Given the description of an element on the screen output the (x, y) to click on. 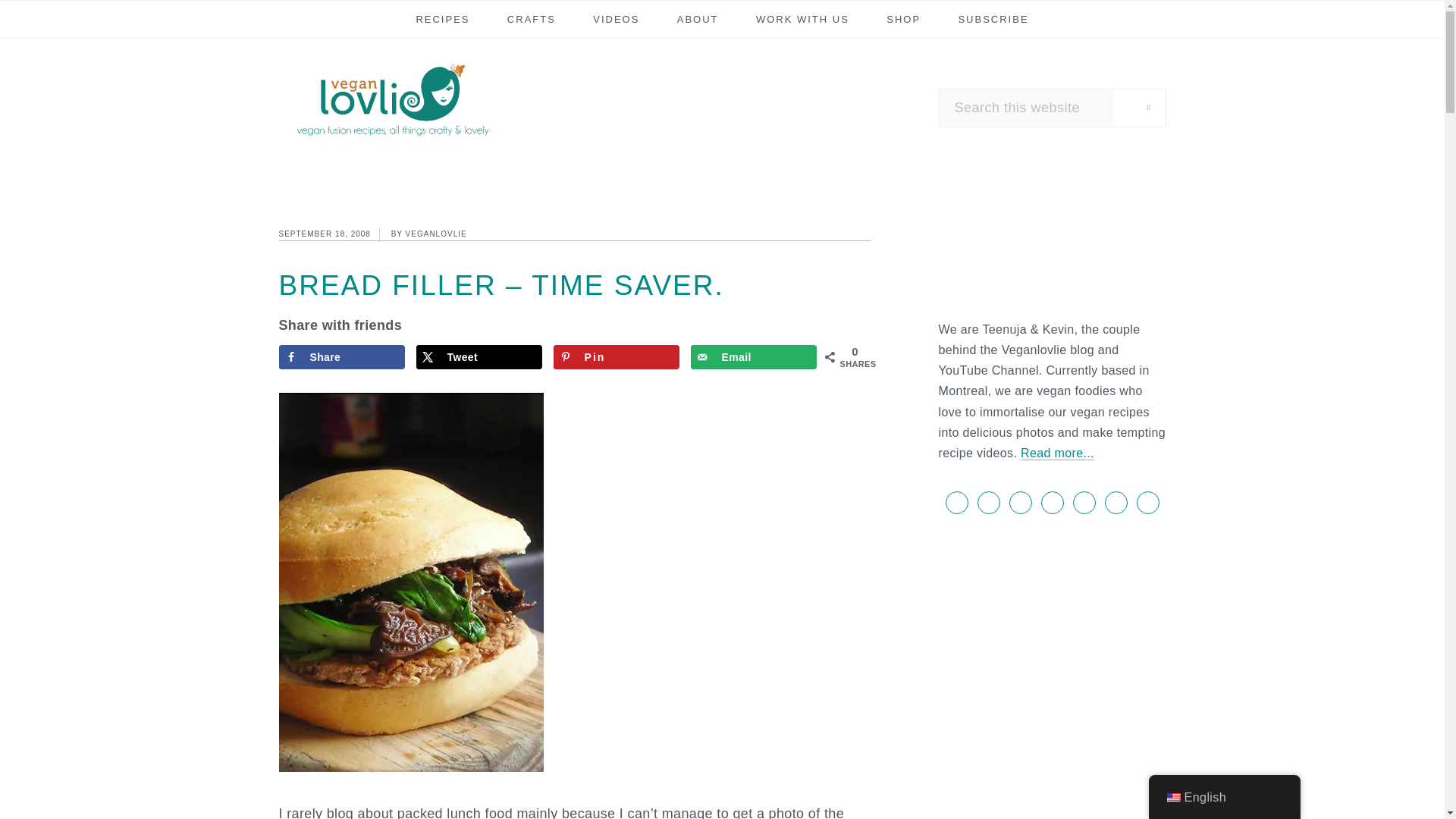
VIDEOS (616, 19)
SUBSCRIBE (992, 19)
SHOP (902, 19)
Send over email (753, 356)
Tweet (479, 356)
Share on Facebook (342, 356)
CRAFTS (531, 19)
RECIPES (442, 19)
Share (342, 356)
Email (753, 356)
VEGANLOVLIE (436, 234)
ABOUT (697, 19)
Save to Pinterest (616, 356)
Pin (616, 356)
